Given the description of an element on the screen output the (x, y) to click on. 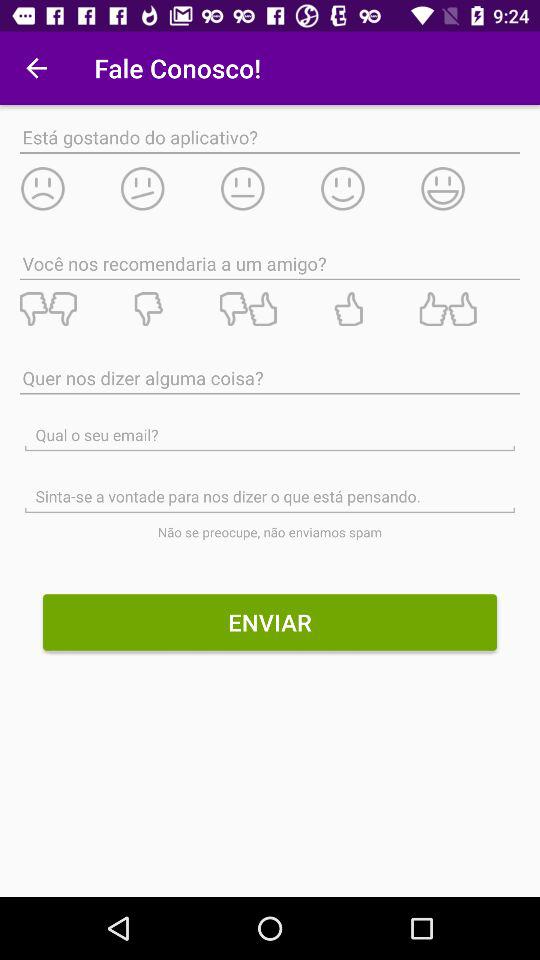
one thumb down (169, 309)
